Given the description of an element on the screen output the (x, y) to click on. 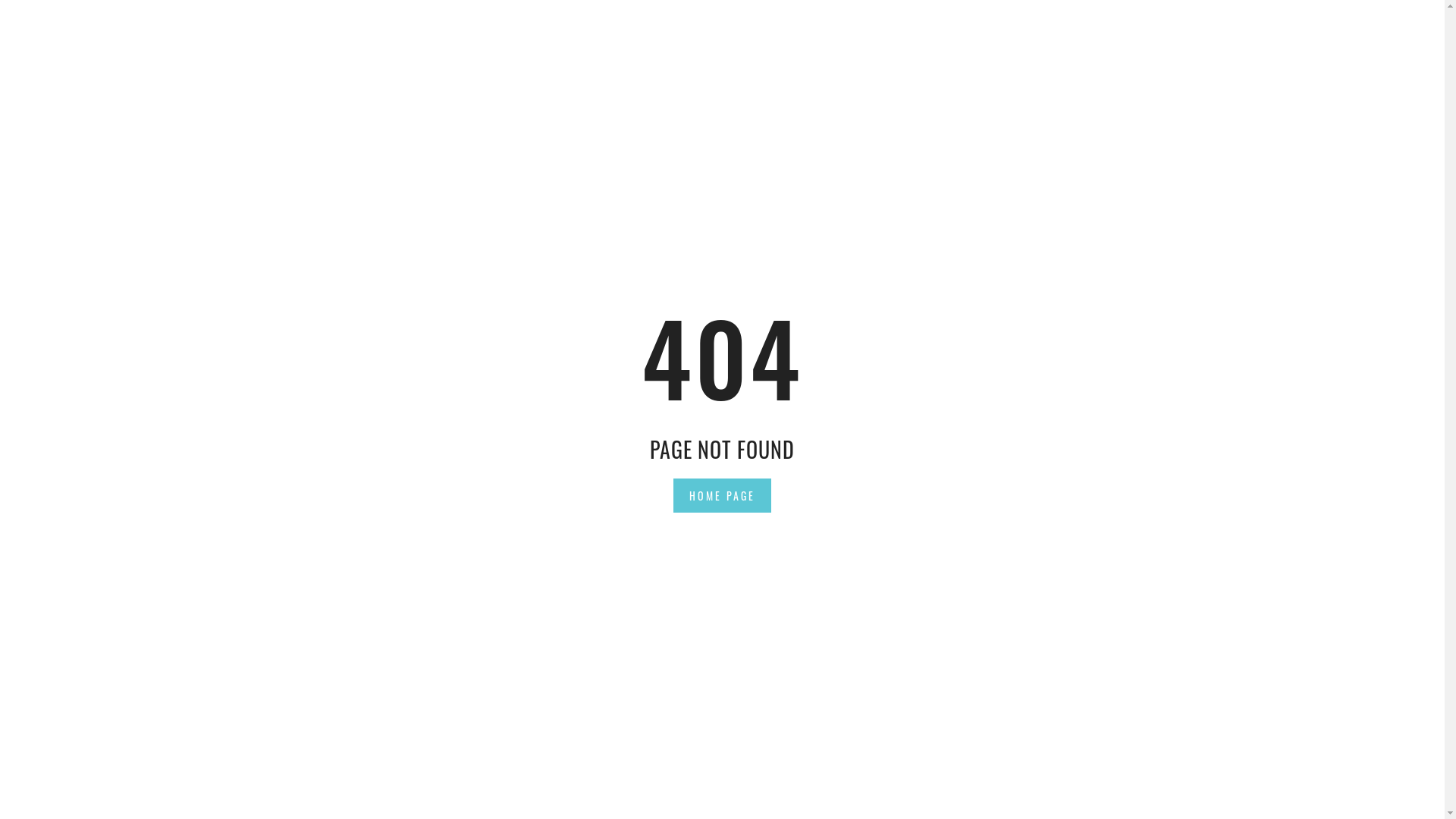
HOME PAGE Element type: text (722, 494)
